Given the description of an element on the screen output the (x, y) to click on. 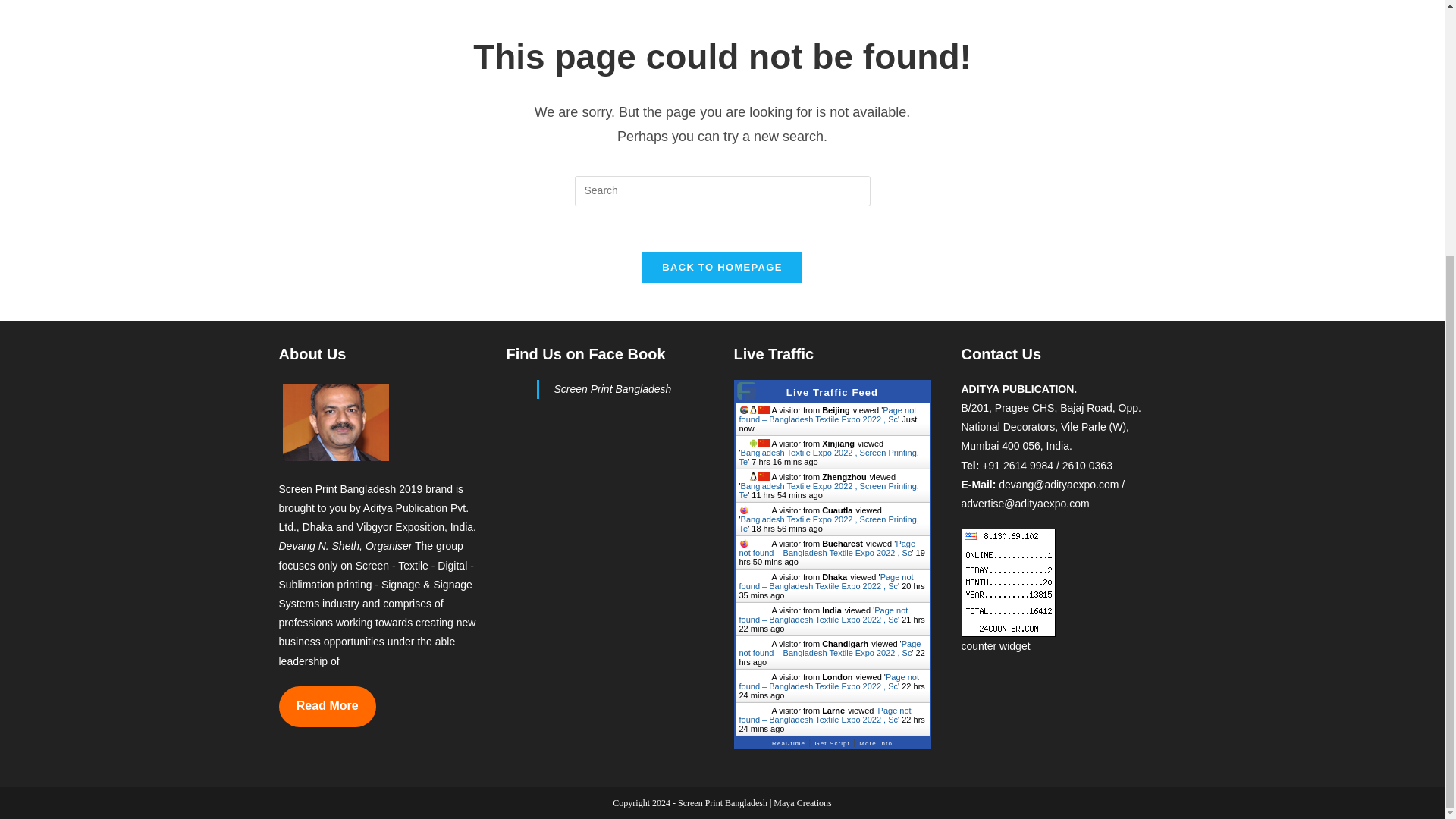
Android (753, 442)
Bangladesh Textile Expo 2022 , Screen Printing, Te (828, 456)
Headless Chrome (743, 409)
Read More (327, 706)
China (764, 442)
China (764, 409)
Screen Print Bangladesh (612, 388)
Live Traffic Feed (831, 392)
Mac (753, 510)
More Info (875, 740)
